Given the description of an element on the screen output the (x, y) to click on. 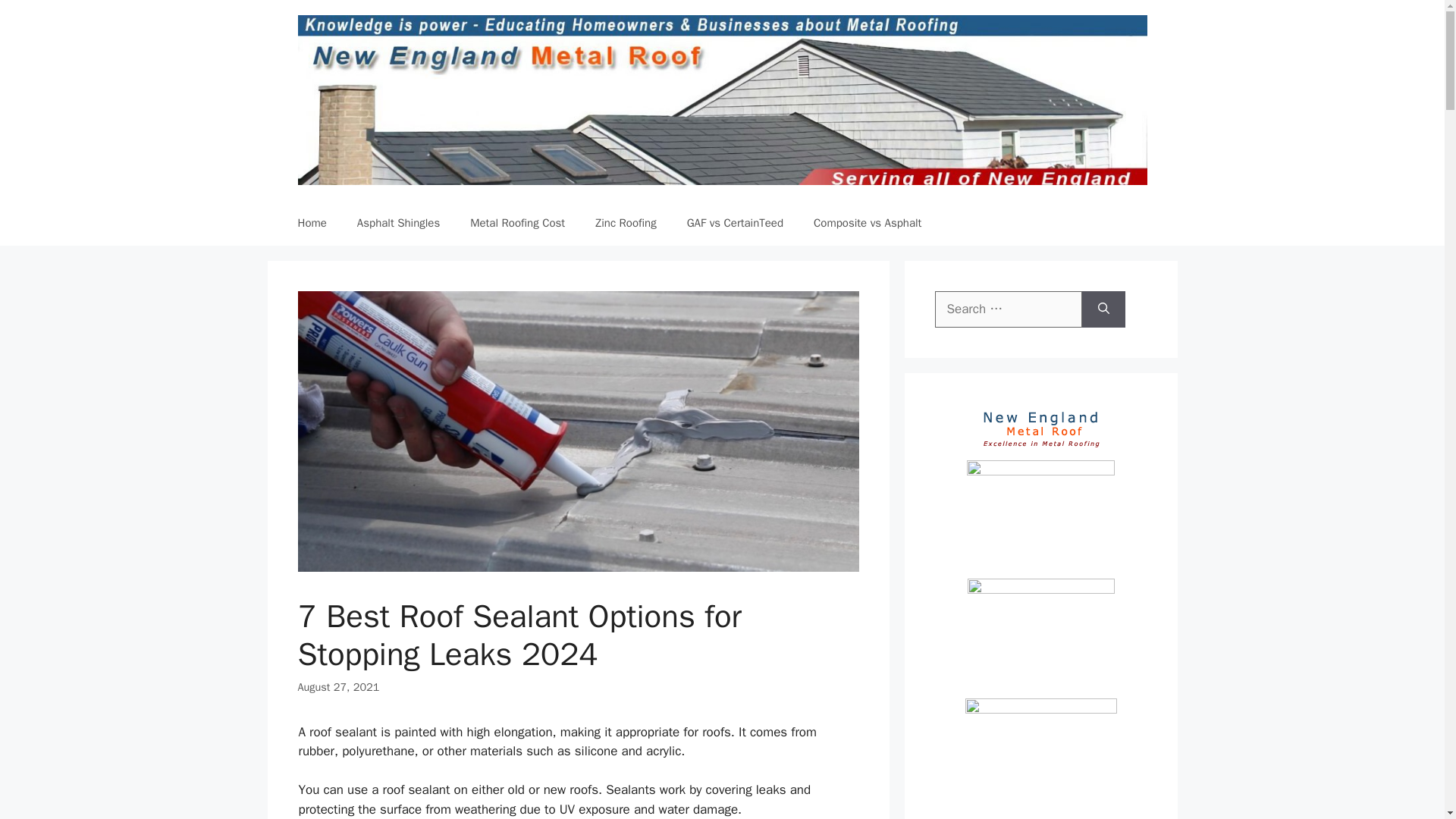
Metal Roofing Cost (516, 222)
Zinc Roofing (625, 222)
Composite vs Asphalt (866, 222)
Home (311, 222)
GAF vs CertainTeed (734, 222)
Asphalt Shingles (398, 222)
Search for: (1007, 309)
